Given the description of an element on the screen output the (x, y) to click on. 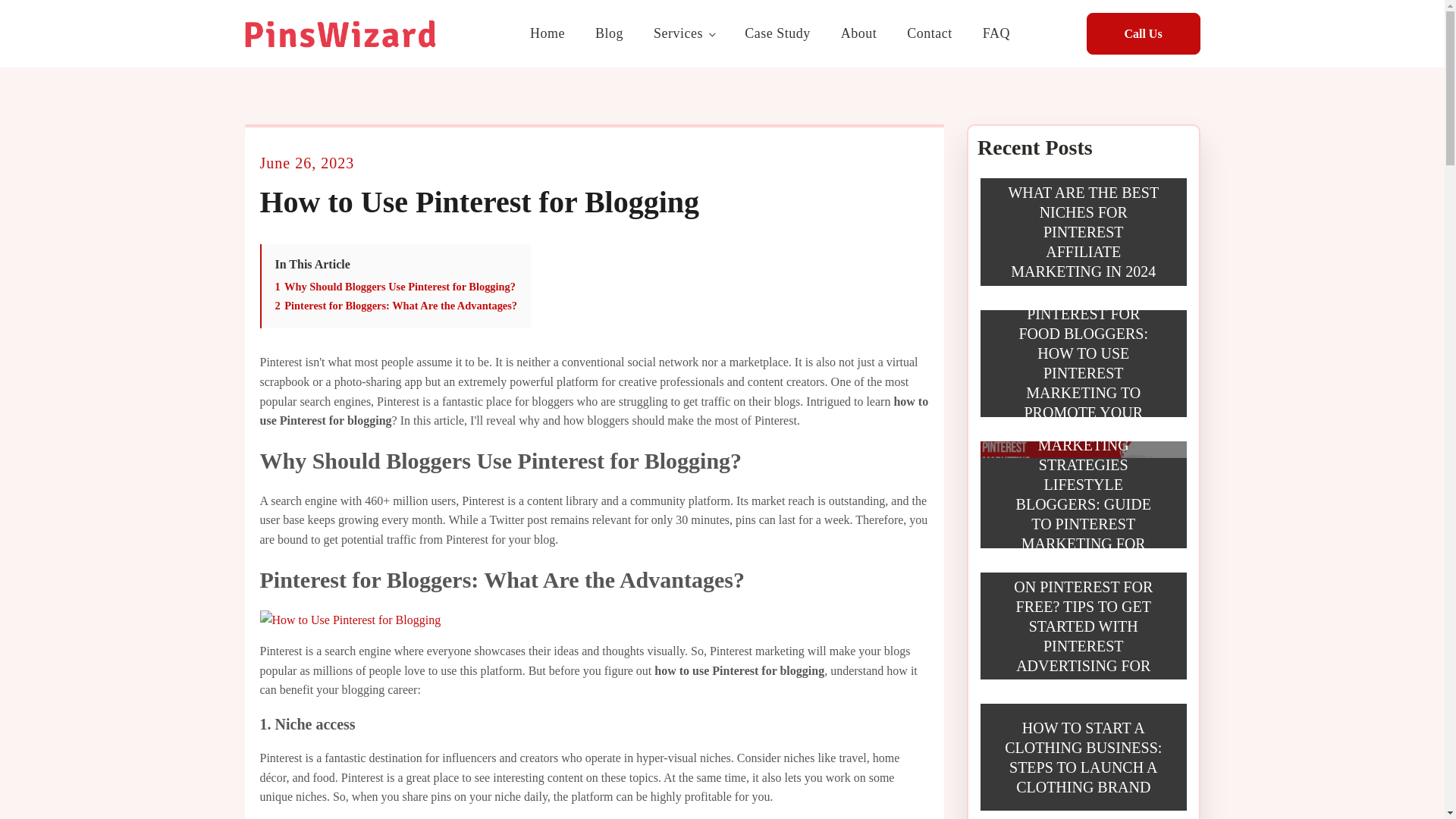
Blog (609, 33)
About (858, 33)
FAQ (996, 33)
Case Study (777, 33)
Services (684, 33)
Call Us (1142, 34)
Contact (929, 33)
Home (547, 33)
